Given the description of an element on the screen output the (x, y) to click on. 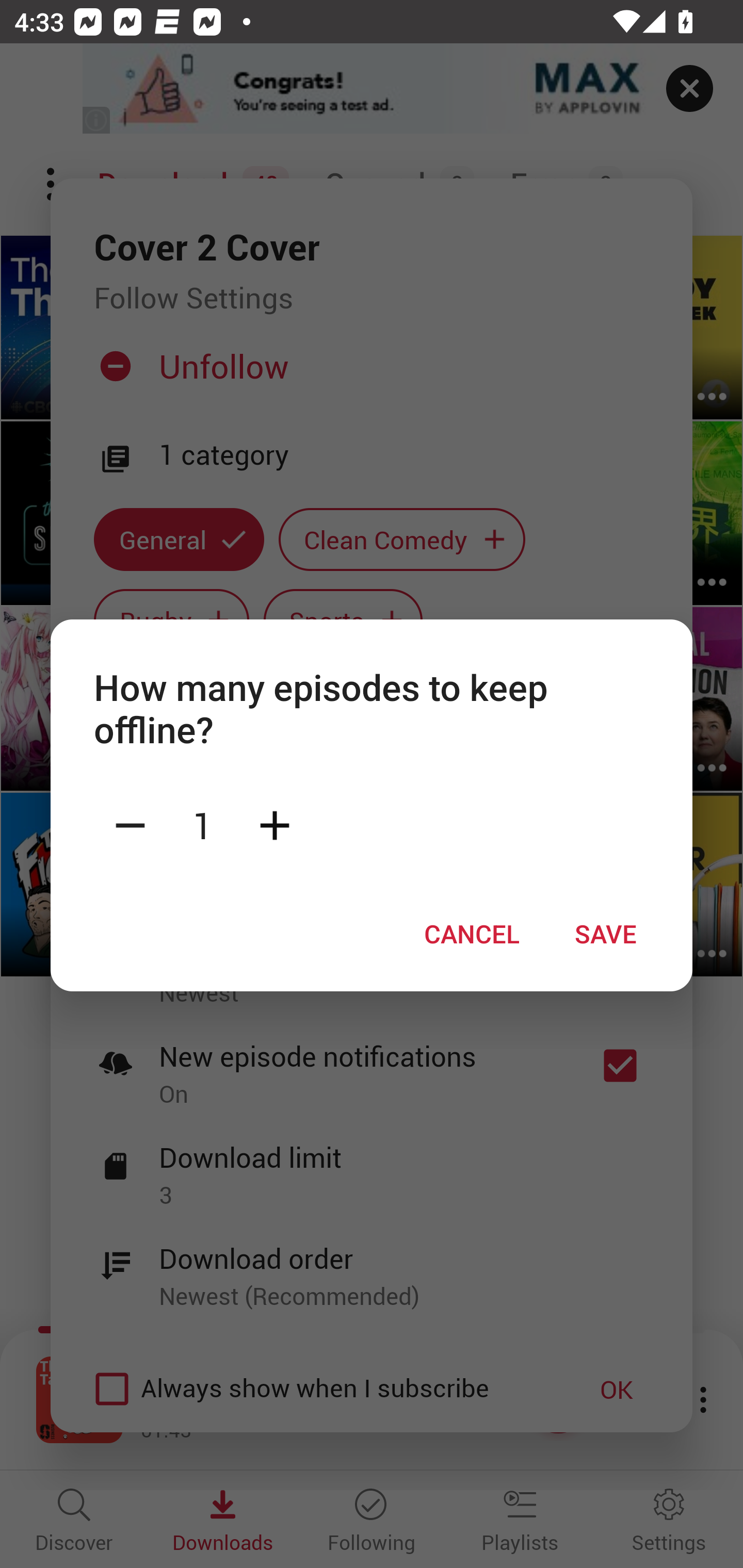
Minus (129, 824)
Plus (274, 824)
CANCEL (470, 933)
SAVE (605, 933)
